Given the description of an element on the screen output the (x, y) to click on. 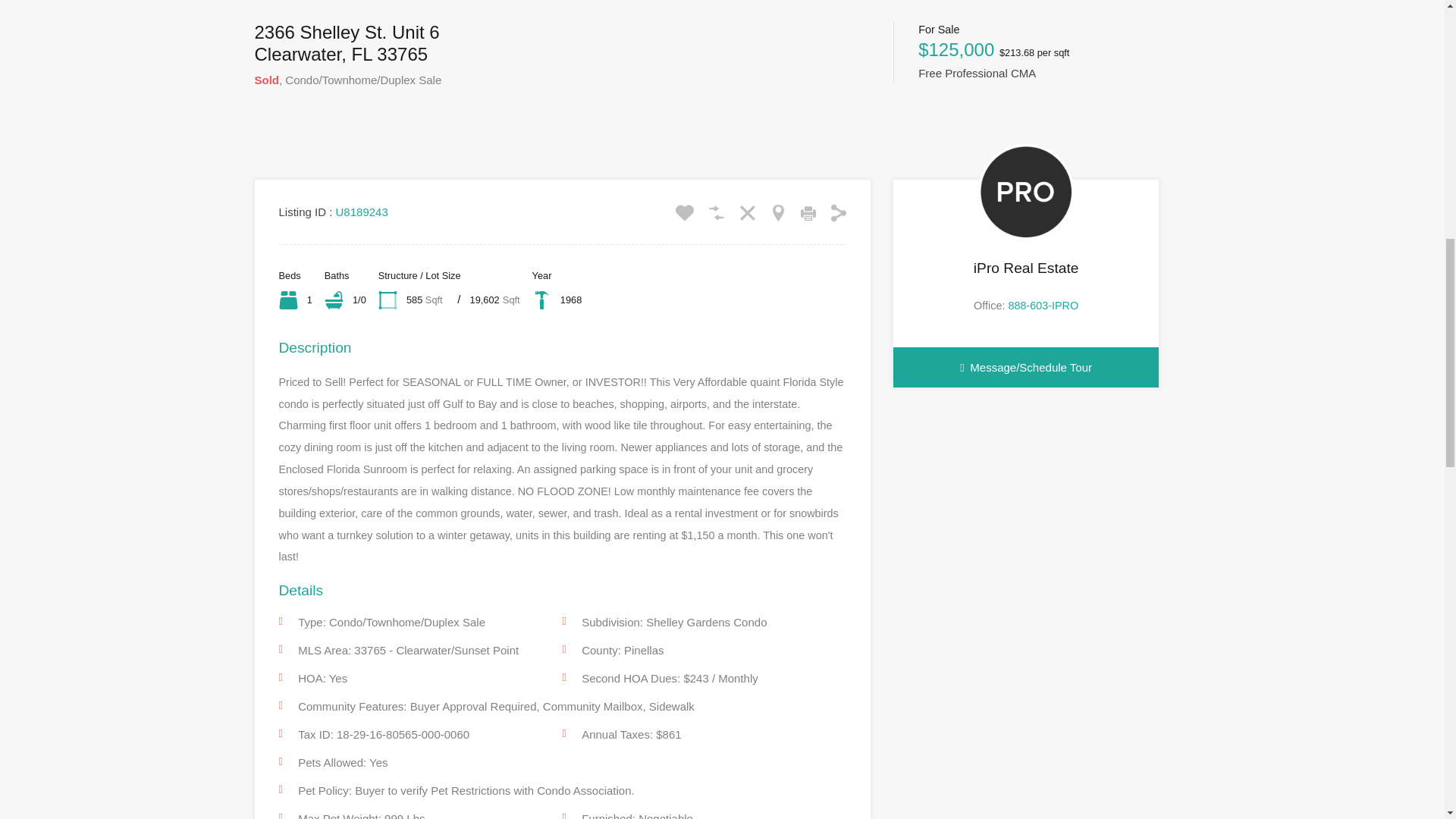
Favorite (684, 212)
